Given the description of an element on the screen output the (x, y) to click on. 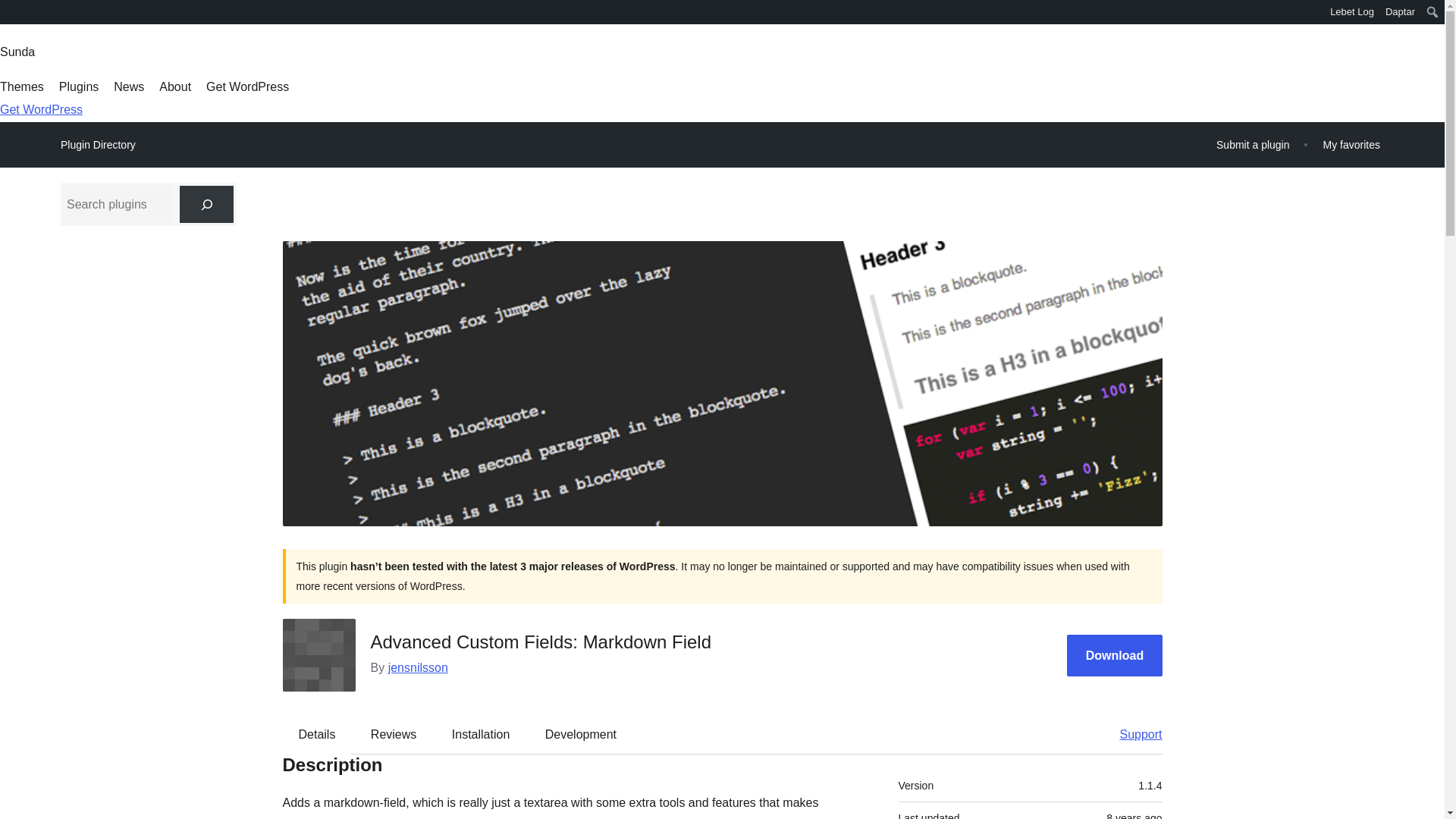
Paluruh (18, 13)
Themes (21, 87)
jensnilsson (418, 667)
Submit a plugin (1253, 144)
WordPress.org (10, 10)
Get WordPress (247, 87)
Daptar (1400, 12)
News (128, 87)
Reviews (392, 733)
Get WordPress (41, 109)
